Given the description of an element on the screen output the (x, y) to click on. 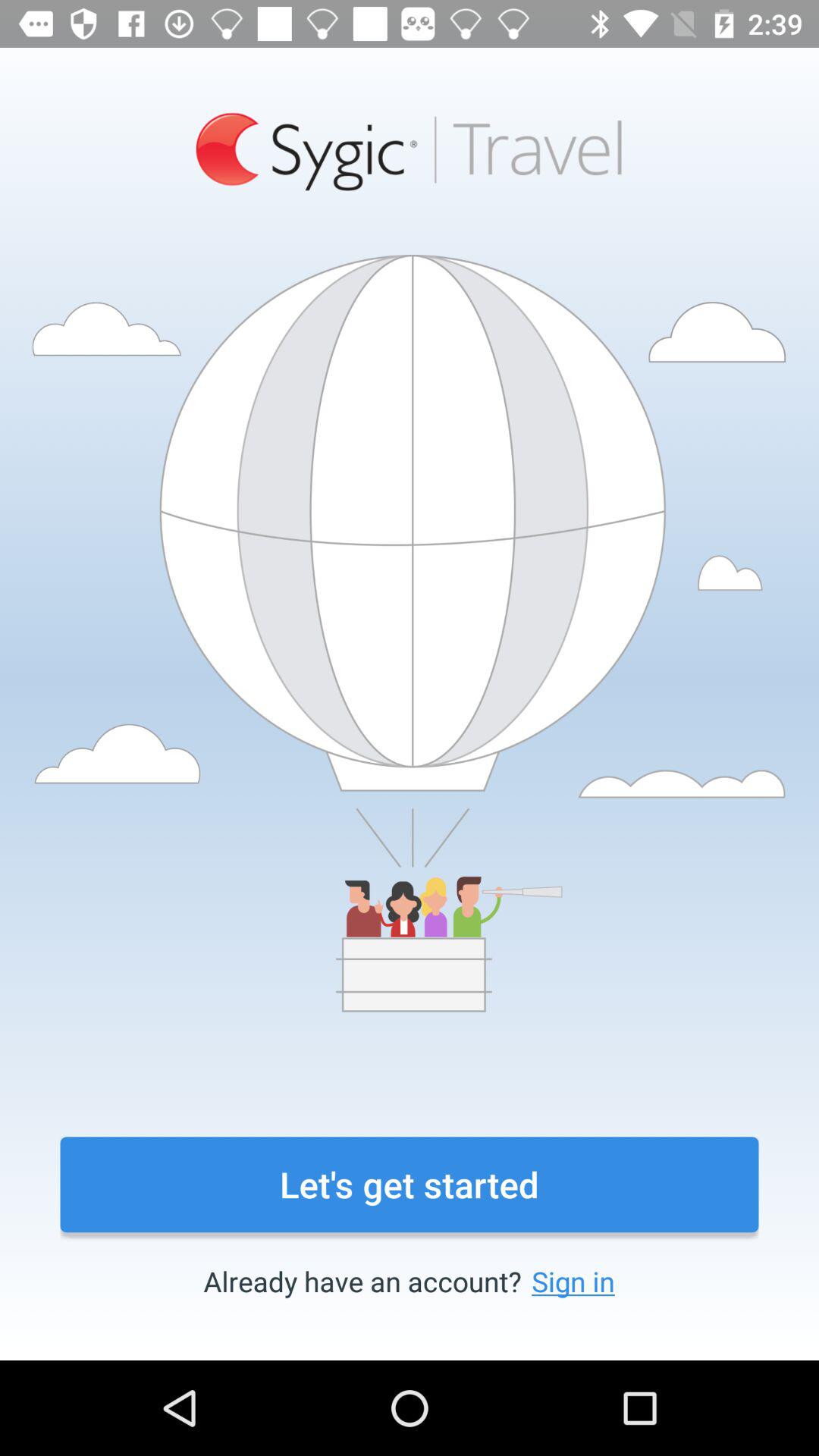
select let s get (409, 1184)
